Given the description of an element on the screen output the (x, y) to click on. 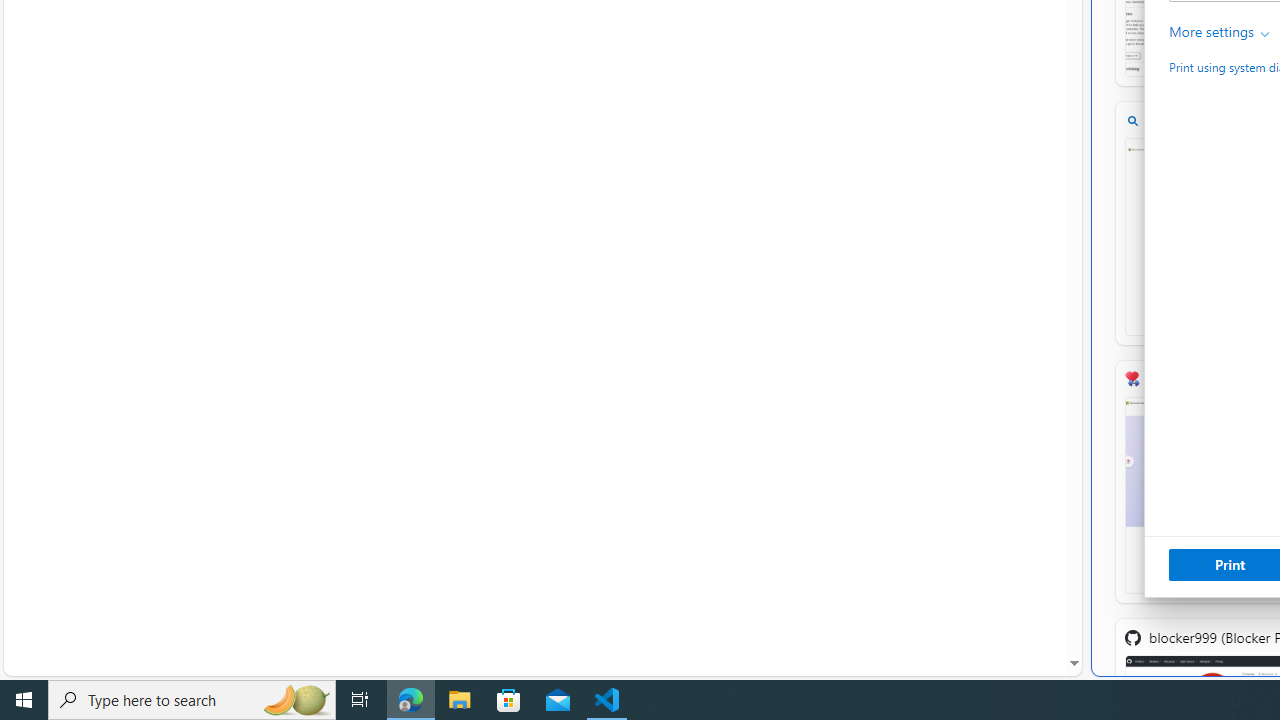
Class: c0183 (1265, 34)
More settings (1220, 32)
